Given the description of an element on the screen output the (x, y) to click on. 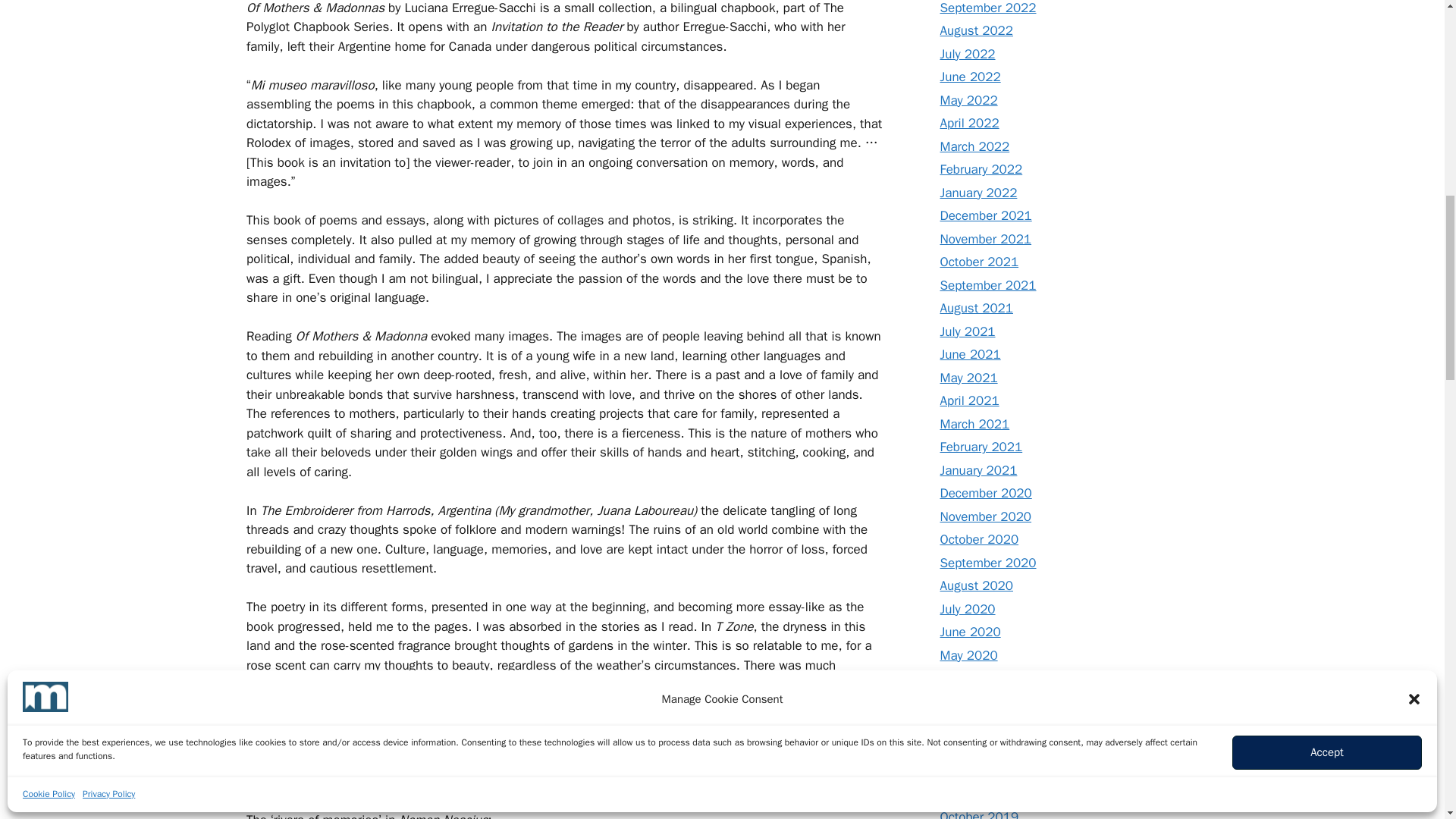
Cookie Policy (49, 383)
Scroll back to top (1406, 720)
Privacy Policy (108, 383)
Accept (1326, 342)
